Given the description of an element on the screen output the (x, y) to click on. 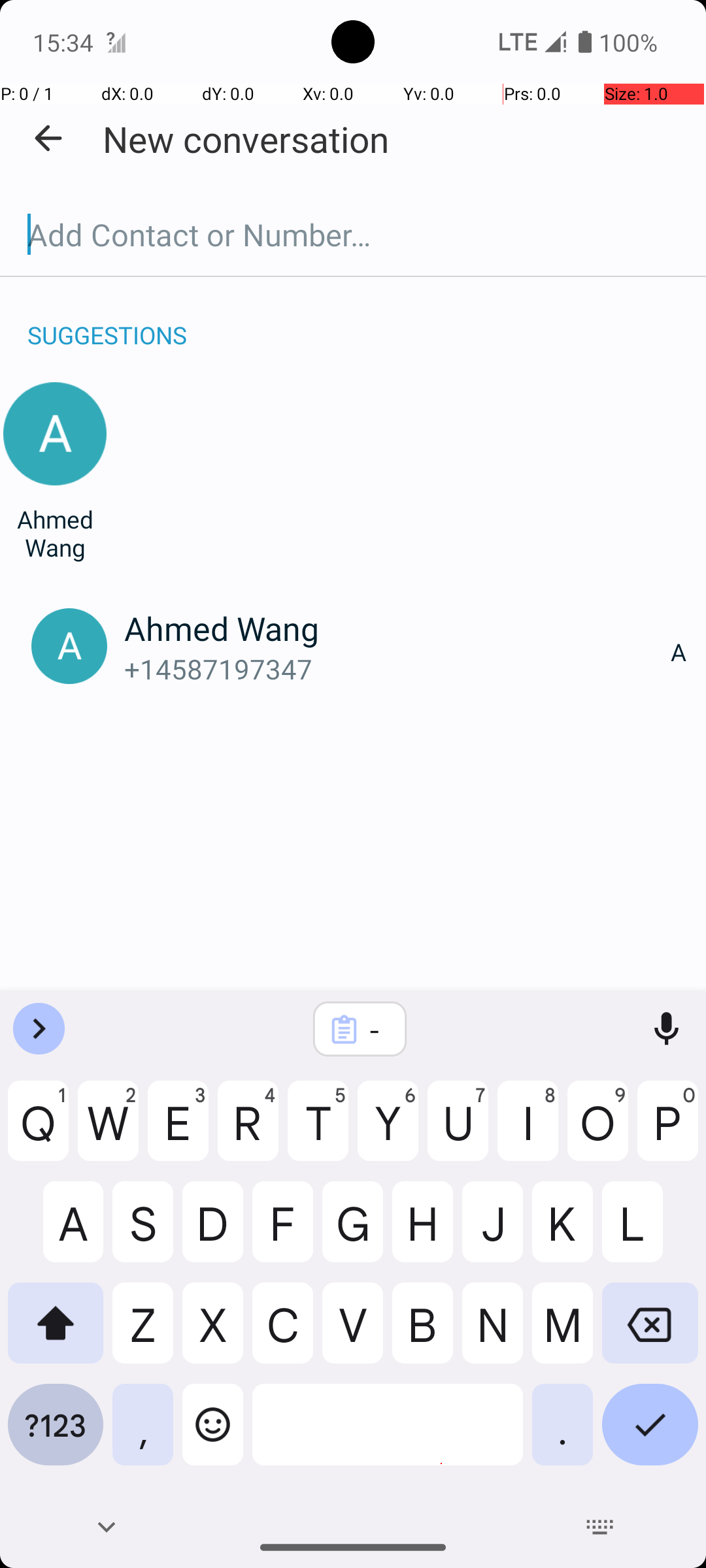
SUGGESTIONS Element type: android.widget.TextView (106, 321)
Ahmed Wang Element type: android.widget.TextView (54, 532)
+14587197347 Element type: android.widget.TextView (397, 668)
